Given the description of an element on the screen output the (x, y) to click on. 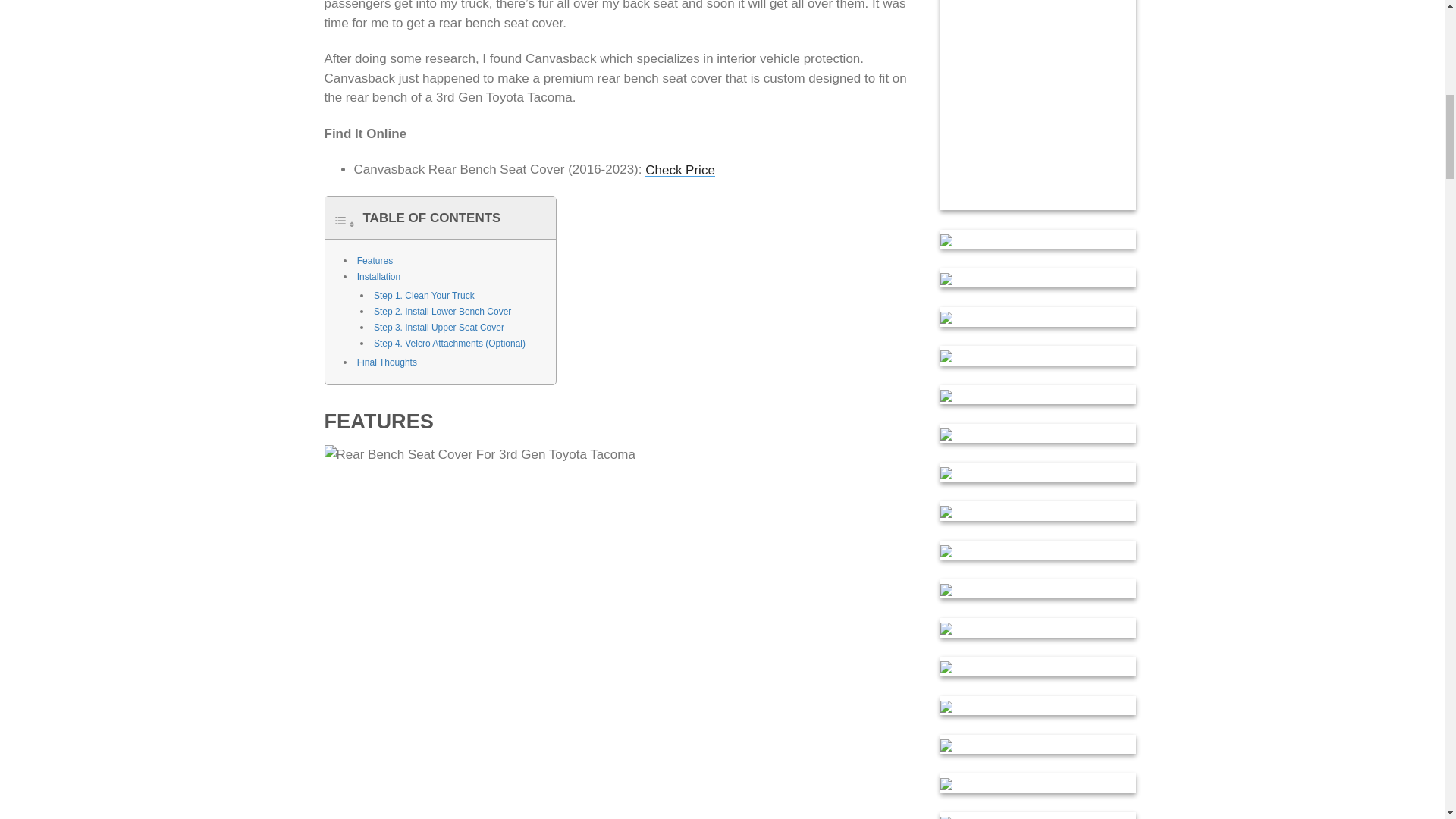
Check Price (679, 170)
Step 1. Clean Your Truck (424, 295)
Step 3. Install Upper Seat Cover (438, 327)
Features (374, 260)
Step 2. Install Lower Bench Cover (442, 311)
Final Thoughts (386, 362)
Features (374, 260)
Installation (378, 276)
